Given the description of an element on the screen output the (x, y) to click on. 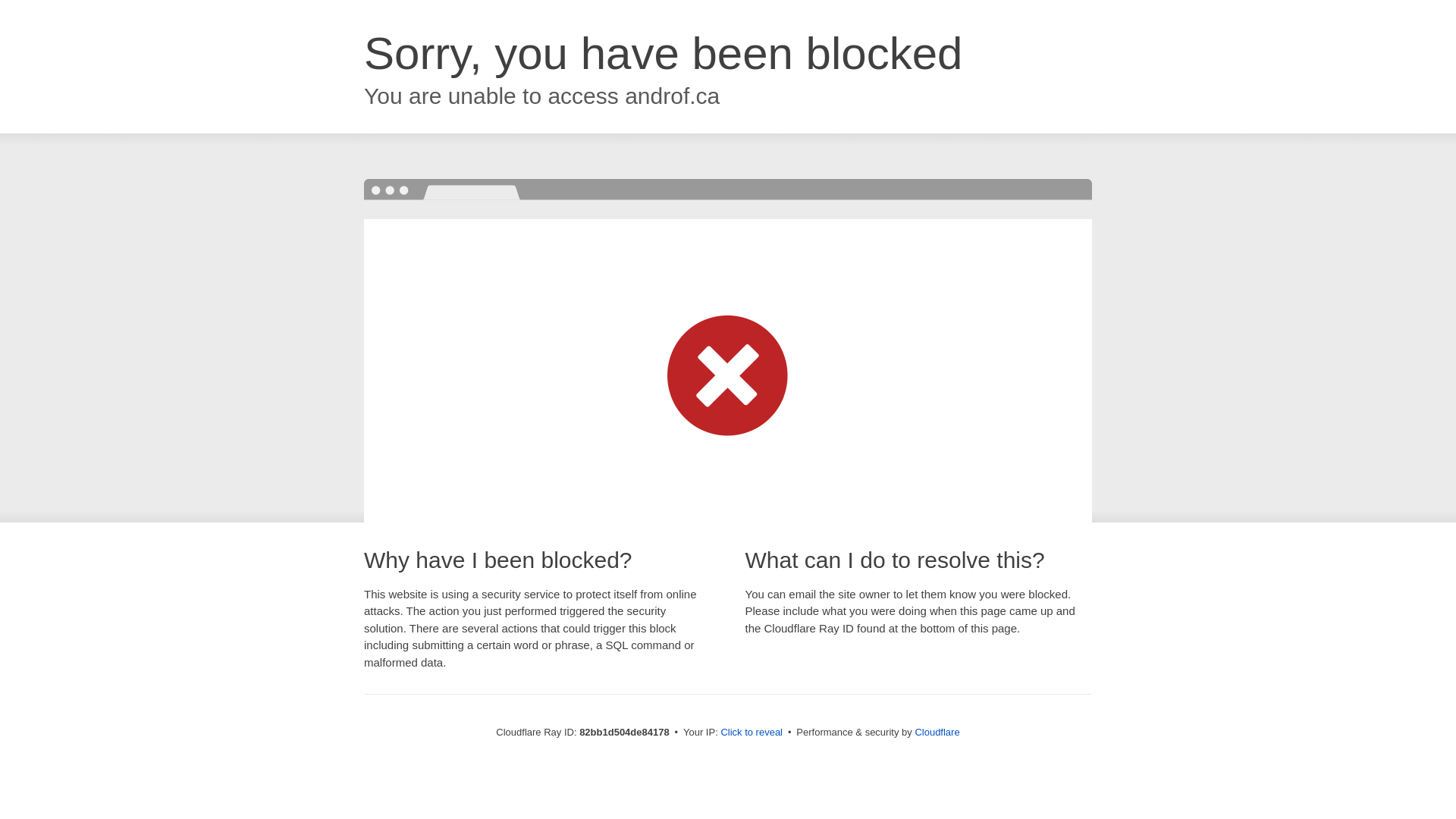
Cloudflare Element type: text (936, 731)
Click to reveal Element type: text (751, 732)
